Given the description of an element on the screen output the (x, y) to click on. 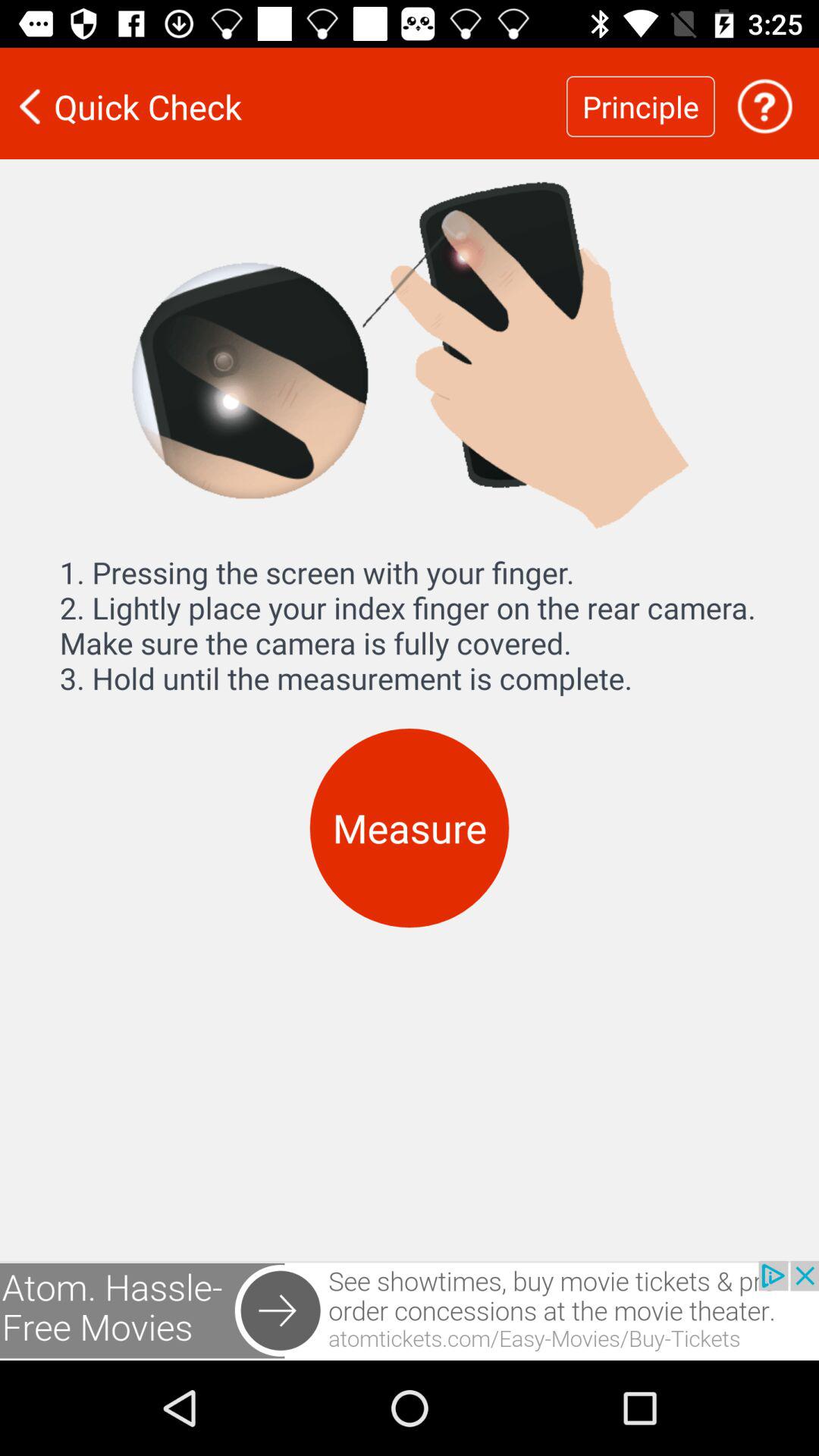
advertisement banner (409, 1310)
